Given the description of an element on the screen output the (x, y) to click on. 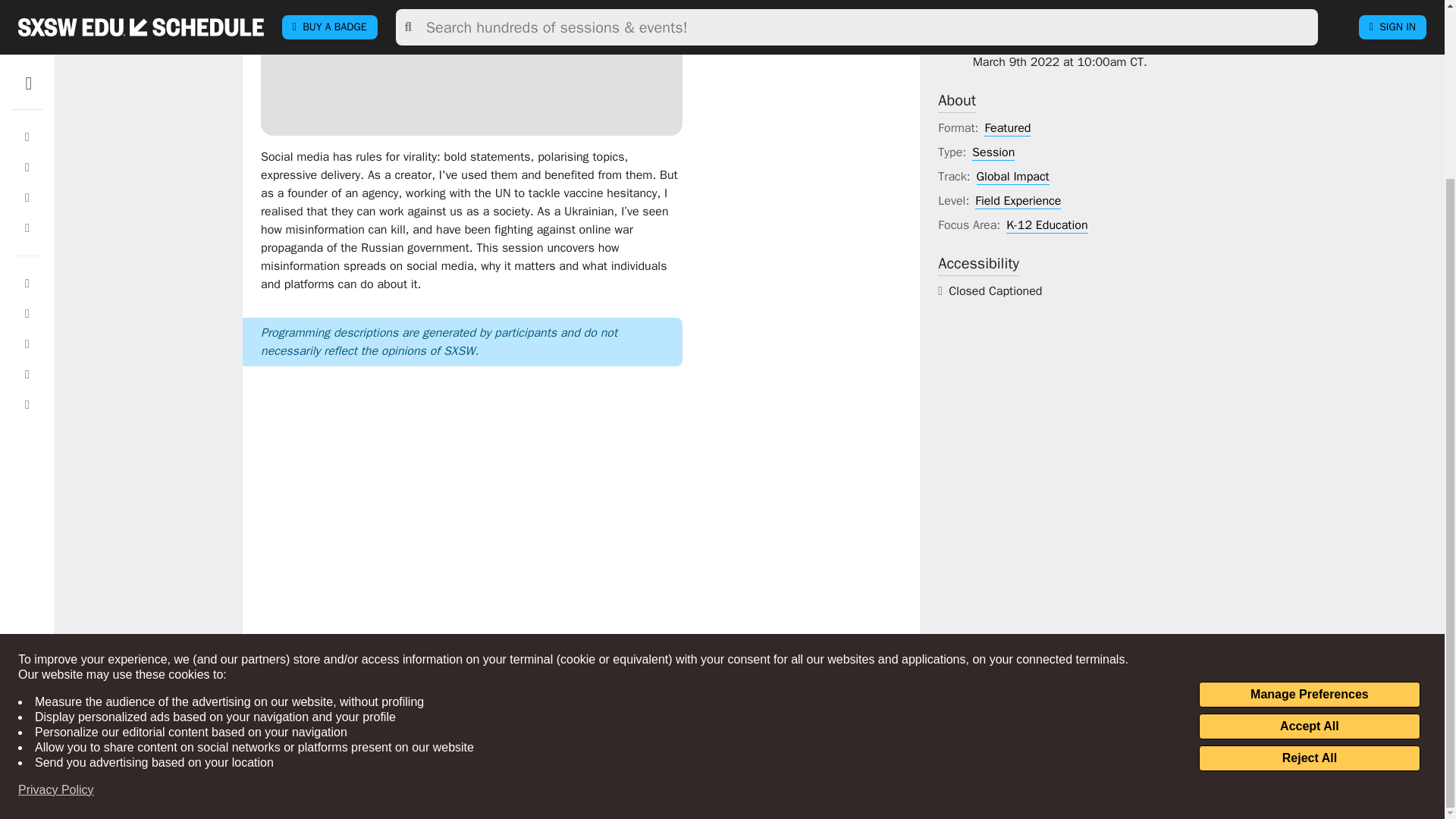
Manage Preferences (1309, 475)
Sign In to add to your favorites. (818, 40)
Privacy Policy (55, 571)
Reject All (1309, 539)
Accept All (1309, 507)
